Given the description of an element on the screen output the (x, y) to click on. 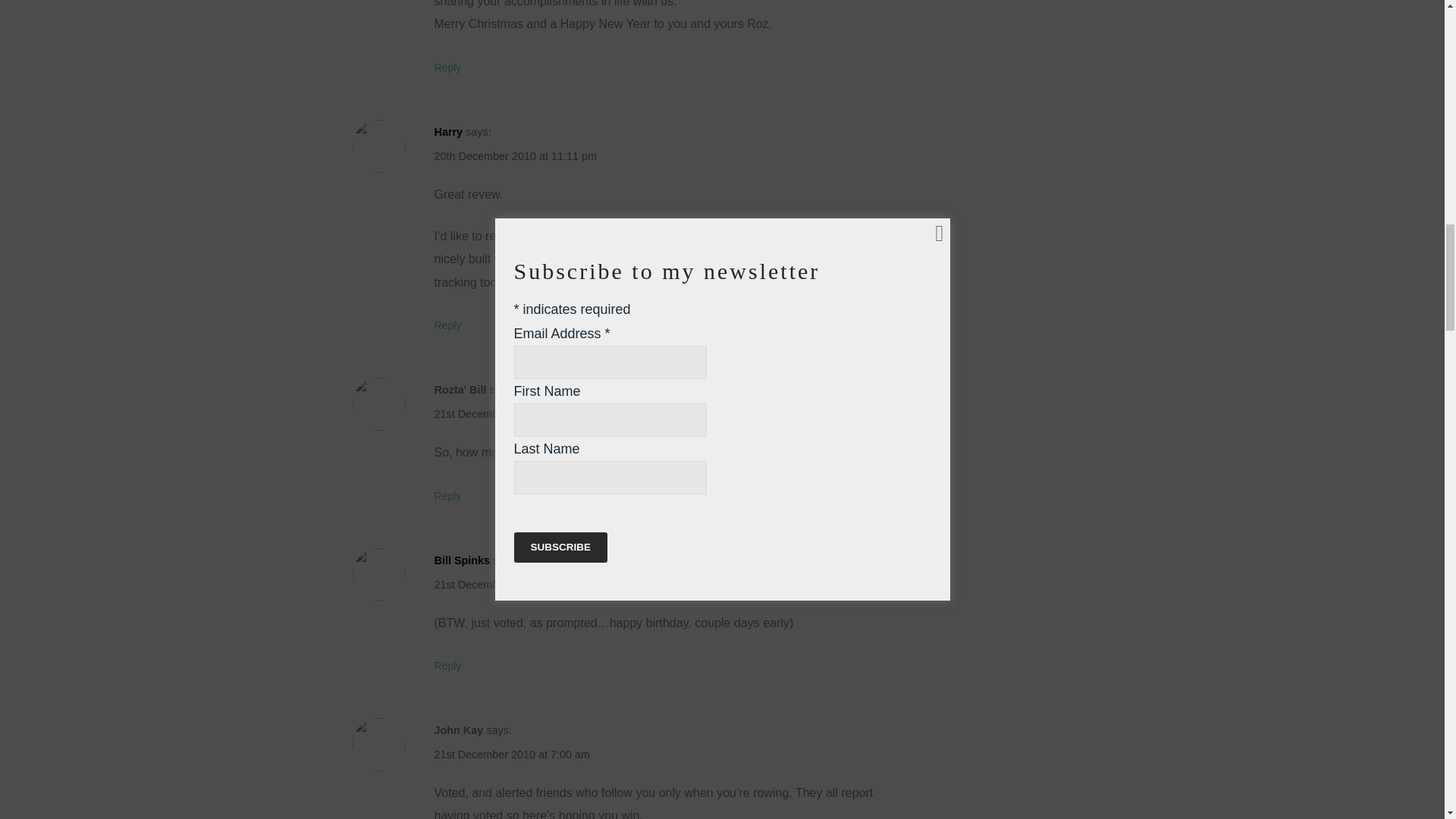
Reply (447, 67)
